Given the description of an element on the screen output the (x, y) to click on. 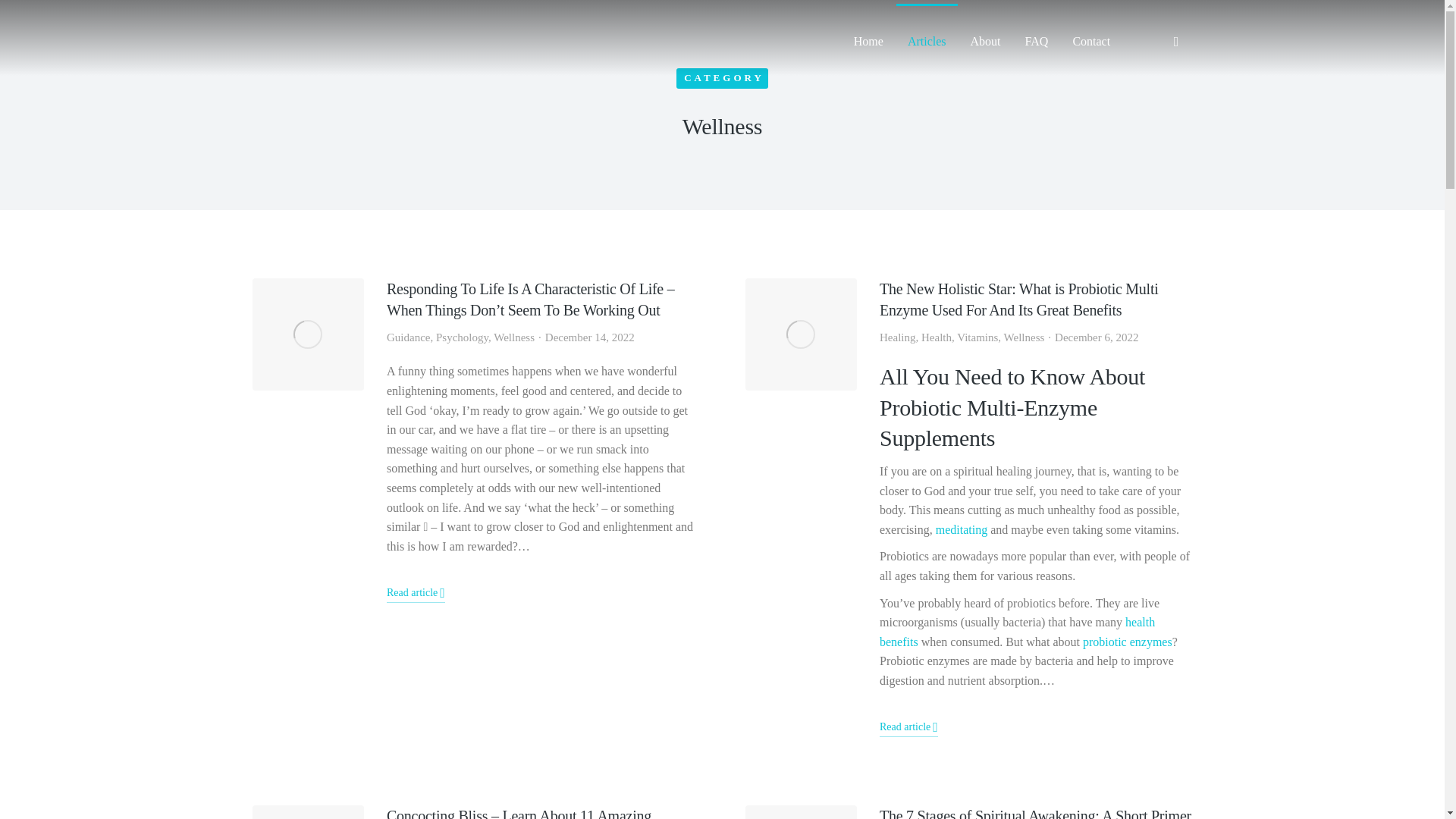
Read article (908, 728)
Wellness (1024, 337)
Guidance (408, 337)
health benefits (1016, 631)
meditating (961, 529)
Wellness (513, 337)
Psychology (461, 337)
Read article (416, 594)
Vitamins (976, 337)
probiotic enzymes (1127, 641)
Health (936, 337)
Healing (897, 337)
